Given the description of an element on the screen output the (x, y) to click on. 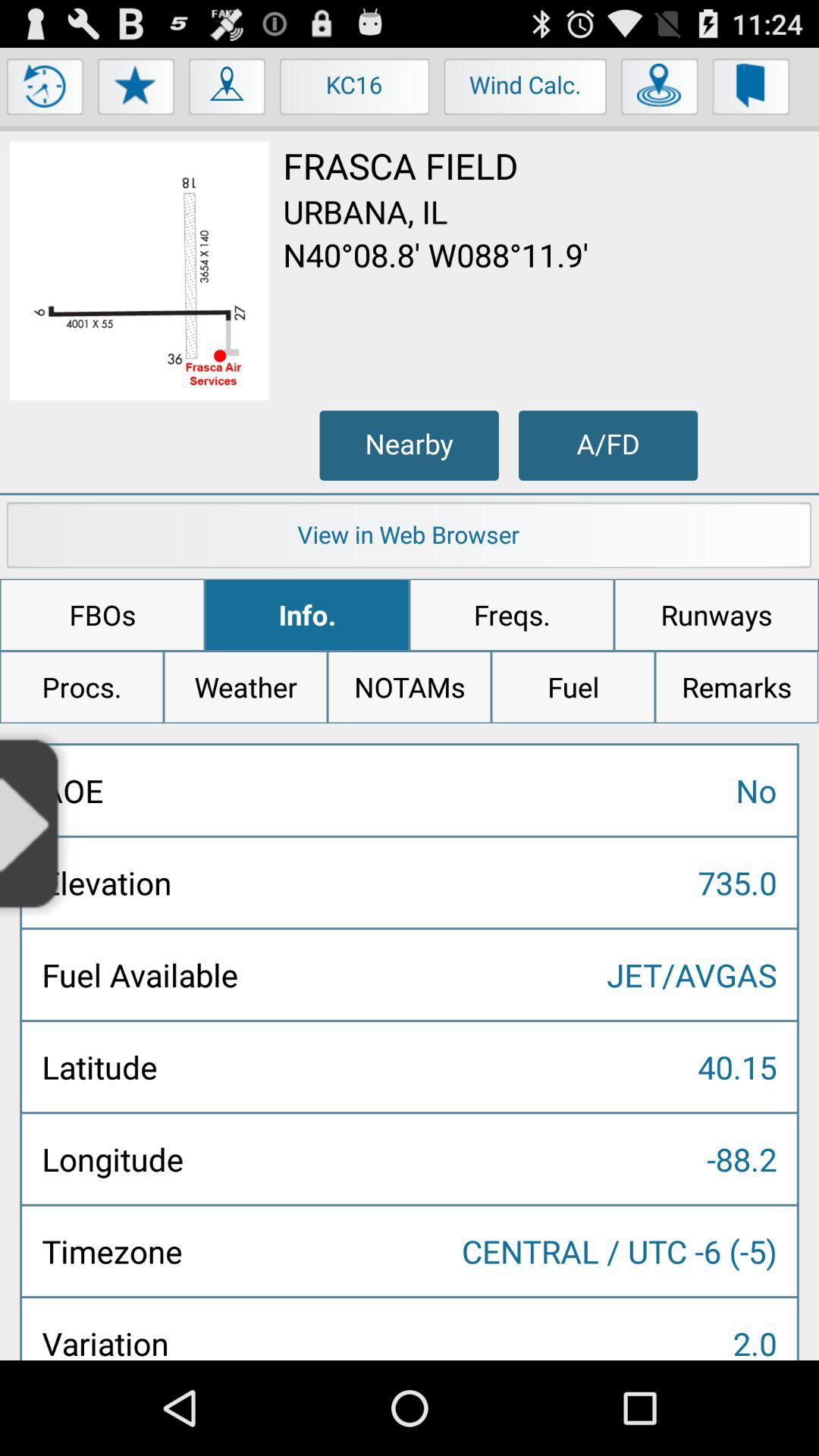
choose app next to the freqs. item (716, 615)
